Given the description of an element on the screen output the (x, y) to click on. 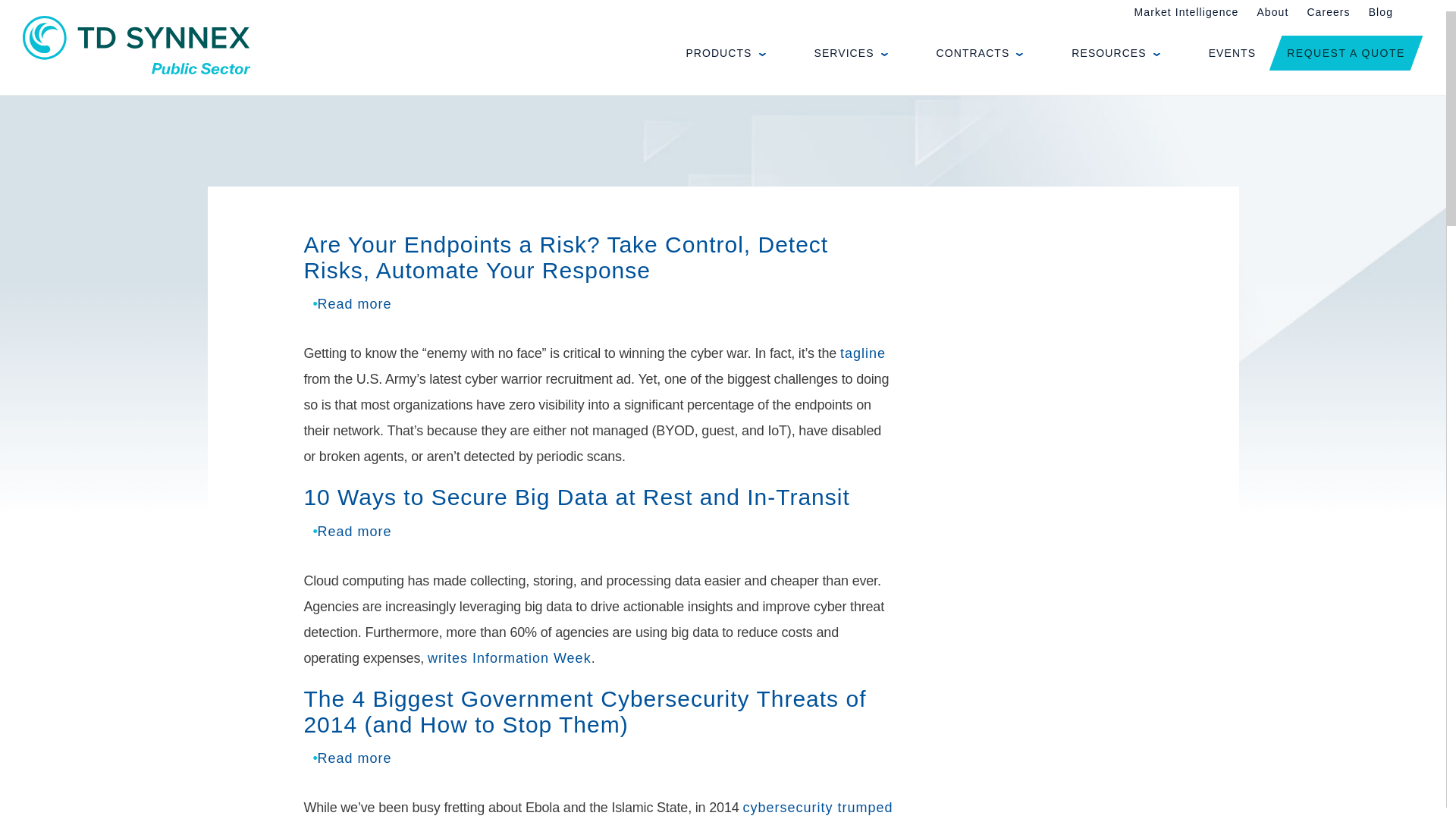
View Our Career Opportunities (1327, 11)
10 Ways to Secure Big Data at Rest and In-Transit (354, 531)
PRODUCTS (713, 53)
Careers (1327, 11)
SERVICES (838, 53)
RESOURCES (1103, 53)
Blog (1380, 11)
EVENTS (1220, 53)
Market Intelligence (1186, 11)
Enter the terms you wish to search for. (1410, 12)
About (1272, 11)
CONTRACTS (968, 53)
Read our Market Intelligence resources (1186, 11)
